Given the description of an element on the screen output the (x, y) to click on. 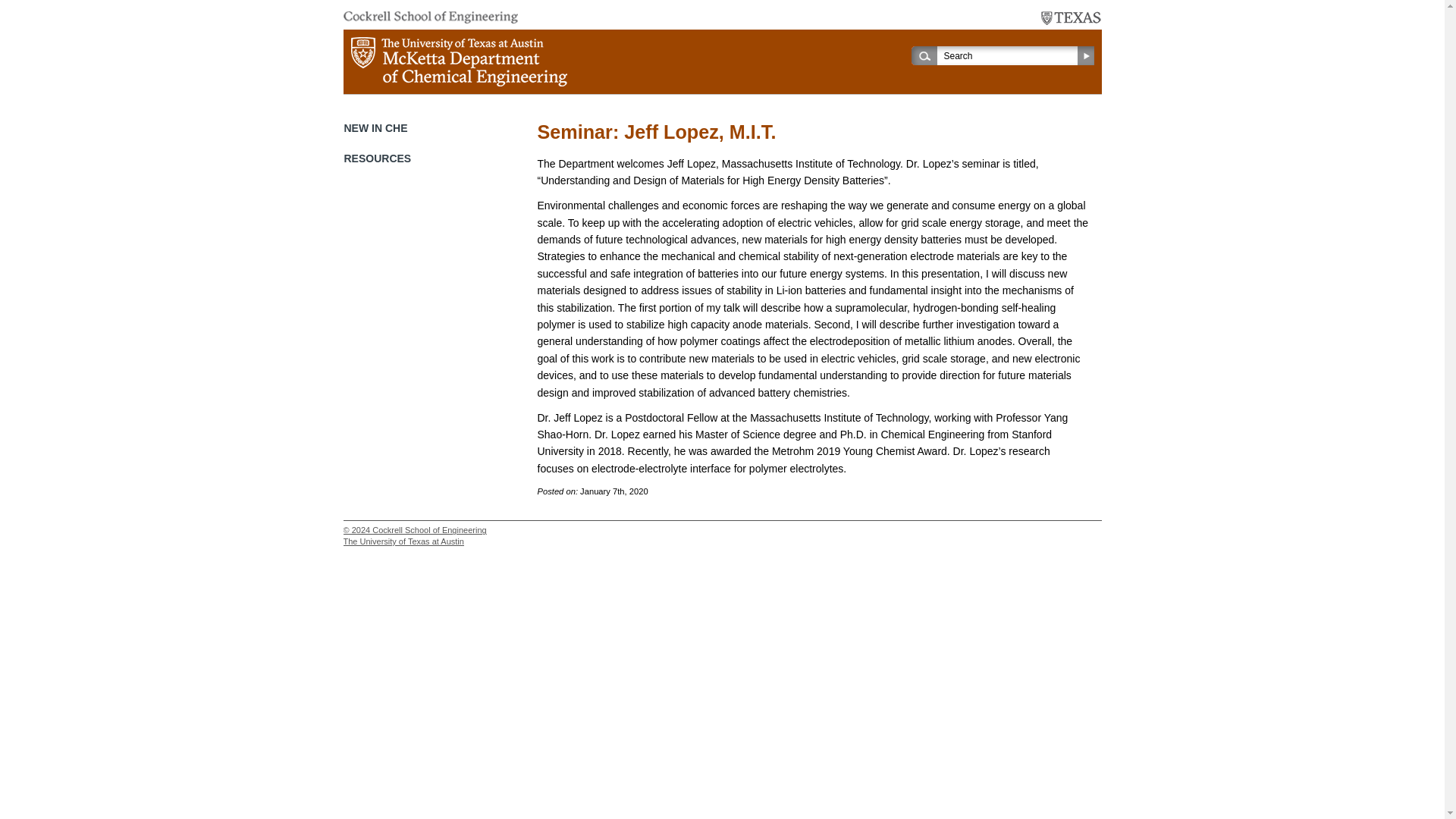
The University of Texas at Austin (1070, 18)
McKetta Department of Chemical Engineering (458, 61)
Search (1010, 54)
Cockrell School of Engineering (429, 529)
Cockrell School of Engineering (429, 17)
Search (1010, 54)
